Given the description of an element on the screen output the (x, y) to click on. 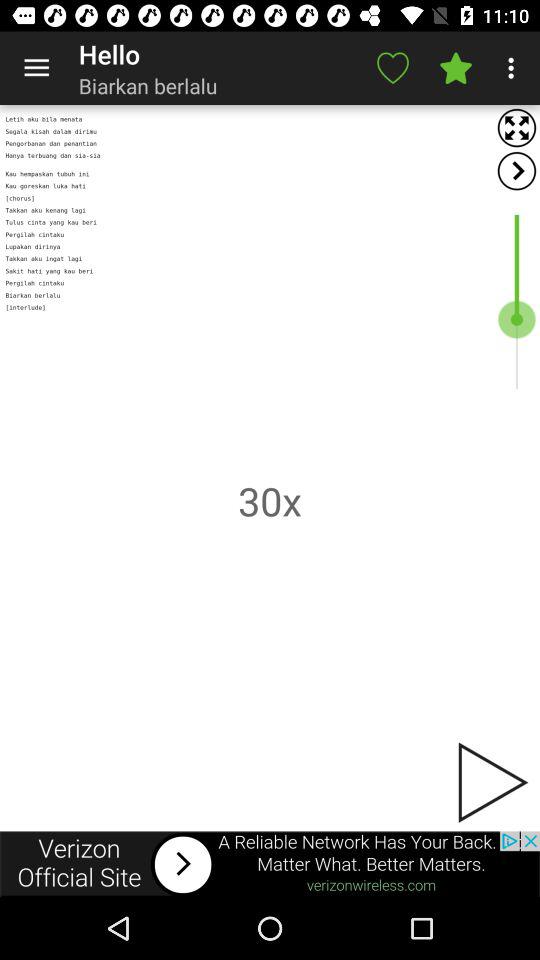
go to next (491, 782)
